Given the description of an element on the screen output the (x, y) to click on. 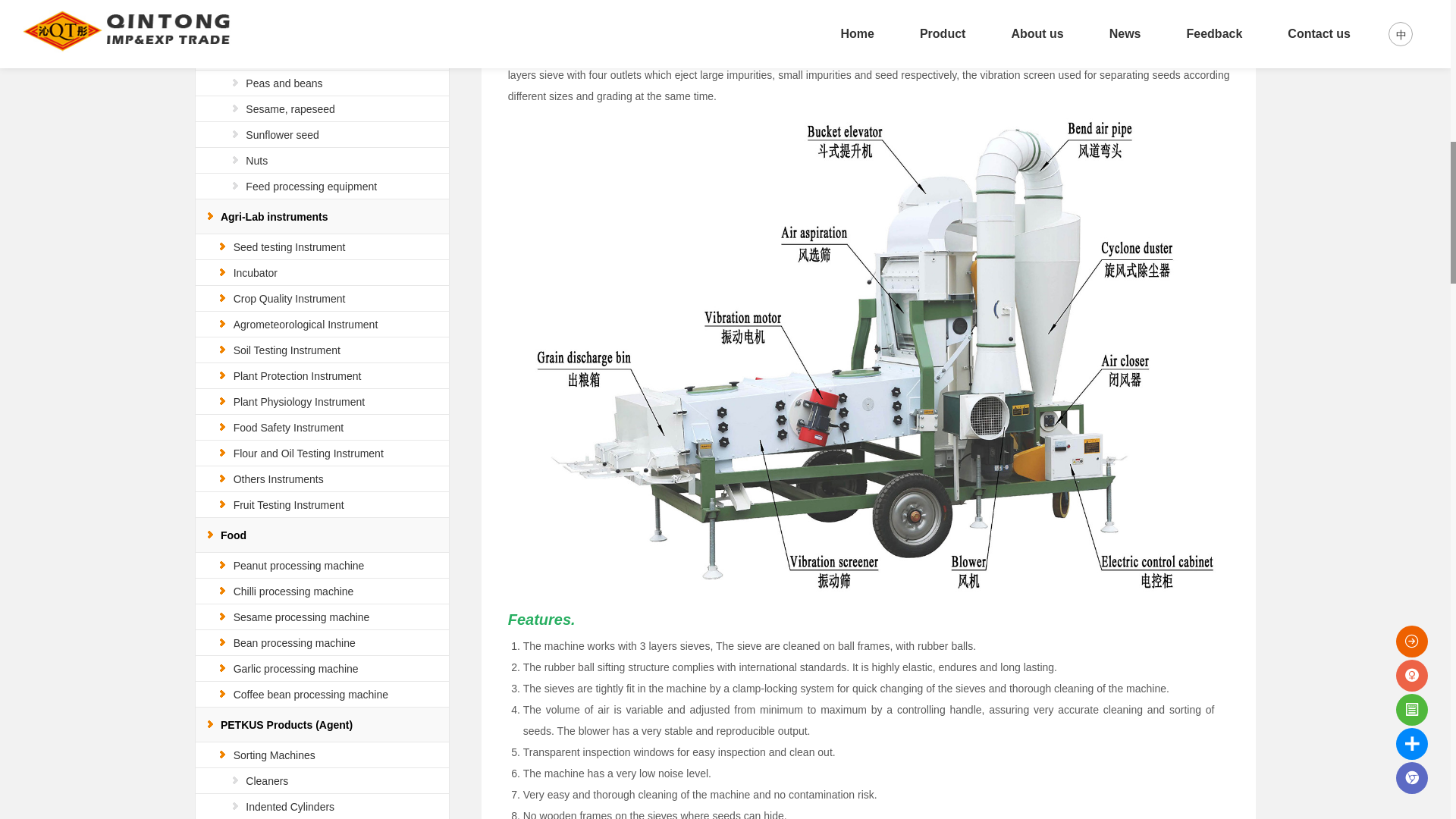
Peas and beans (283, 82)
Maize (259, 57)
Feed processing equipment (311, 186)
Corp (244, 6)
Sunflower seed (282, 134)
Agri-Lab instruments (275, 216)
Sesame, rapeseed (290, 109)
Wheat, Paddy seed (291, 31)
ENTER (1372, 17)
Nuts (256, 160)
